Given the description of an element on the screen output the (x, y) to click on. 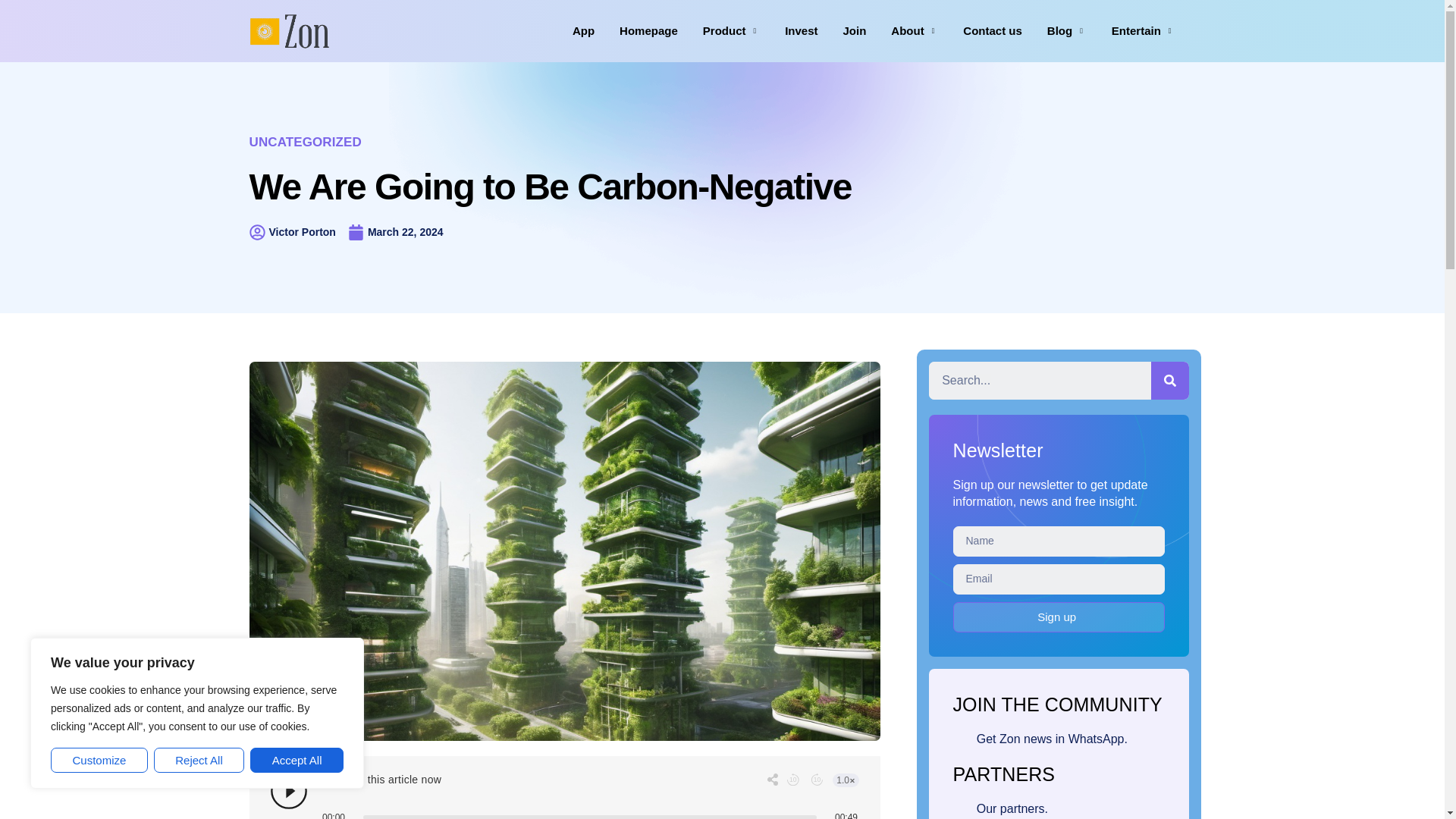
About (926, 31)
Blog (1079, 31)
Customize (99, 760)
Entertain (1155, 31)
Contact us (1004, 31)
Search (1170, 380)
Search (1039, 380)
Homepage (661, 31)
Join (867, 31)
Reject All (199, 760)
Accept All (296, 760)
Invest (813, 31)
Product (743, 31)
App (596, 31)
Trinity Audio Player (564, 793)
